Given the description of an element on the screen output the (x, y) to click on. 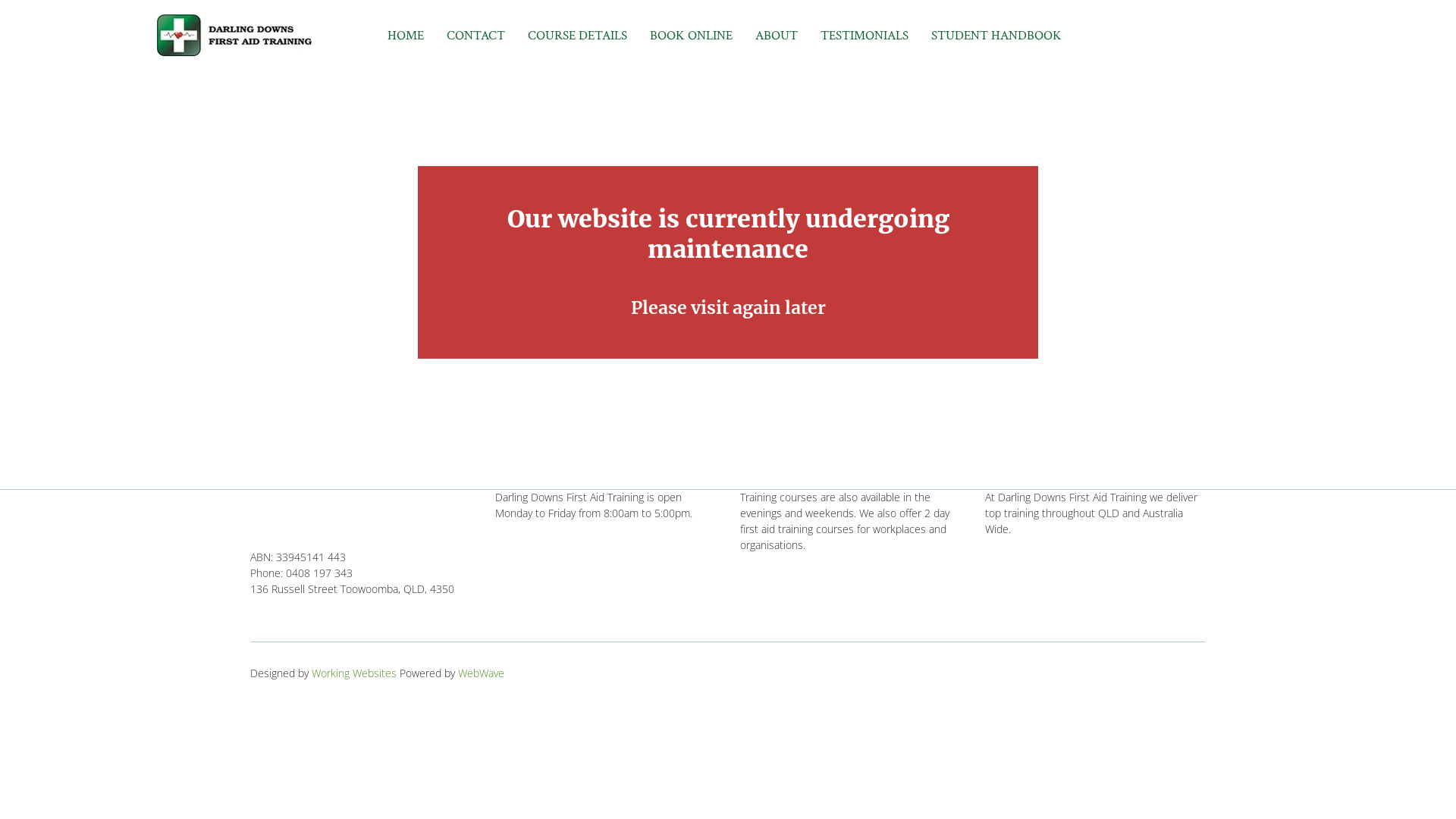
COURSE DETAILS Element type: text (577, 34)
ABOUT Element type: text (776, 34)
WebWave Element type: text (481, 672)
CONTACT Element type: text (475, 34)
Working Websites Element type: text (355, 672)
Darling Downs First Aid Training Logo Element type: hover (335, 511)
Darling Downs First Aid Training Logo Element type: hover (233, 35)
TESTIMONIALS Element type: text (864, 34)
BOOK ONLINE Element type: text (691, 34)
STUDENT HANDBOOK Element type: text (996, 34)
HOME Element type: text (405, 34)
